Given the description of an element on the screen output the (x, y) to click on. 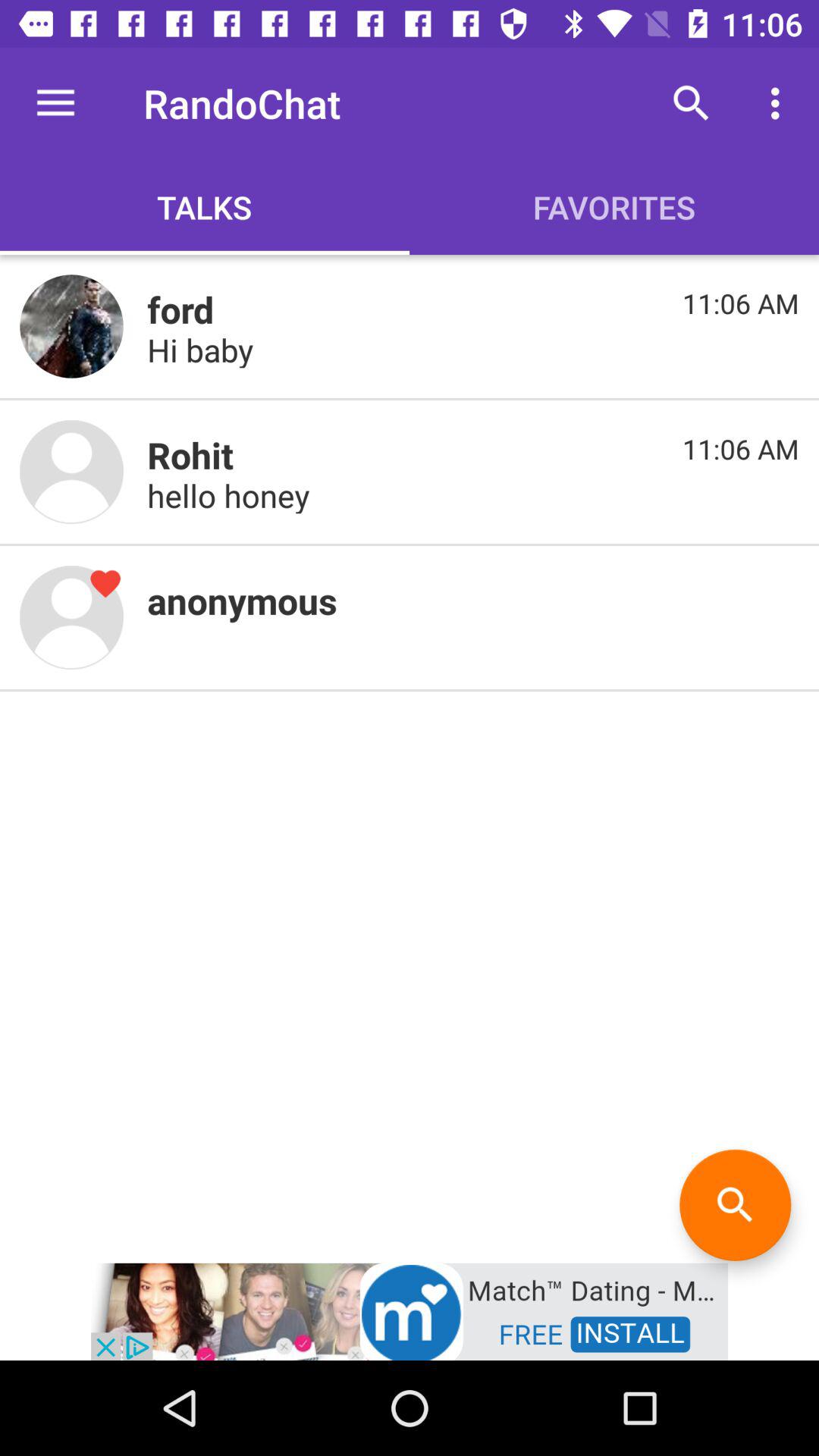
go to next chating (71, 471)
